Given the description of an element on the screen output the (x, y) to click on. 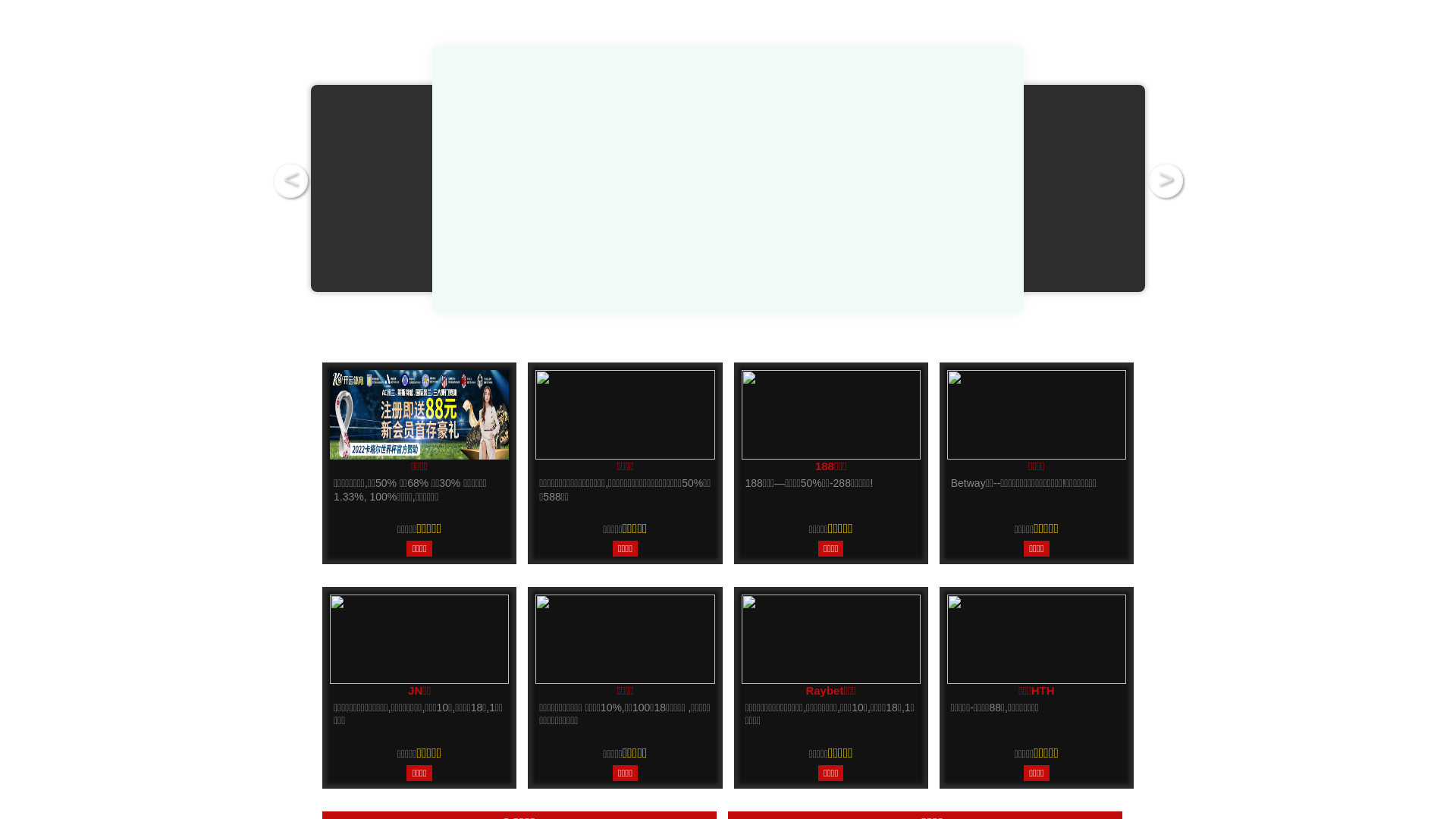
CE Element type: text (746, 708)
ABOUT US Element type: text (690, 73)
View More Element type: text (539, 768)
View More Element type: text (313, 768)
CONTACT US Element type: text (1042, 73)
ISO 13485 Element type: text (765, 664)
STQC Element type: text (754, 750)
ISO 9001 Element type: text (762, 686)
TUV Element type: text (750, 729)
CAREER Element type: text (960, 73)
Submit Form Element type: text (727, 522)
HOME Element type: text (621, 73)
Login Element type: text (1137, 70)
Select Product(s) Element type: text (1052, 464)
